Given the description of an element on the screen output the (x, y) to click on. 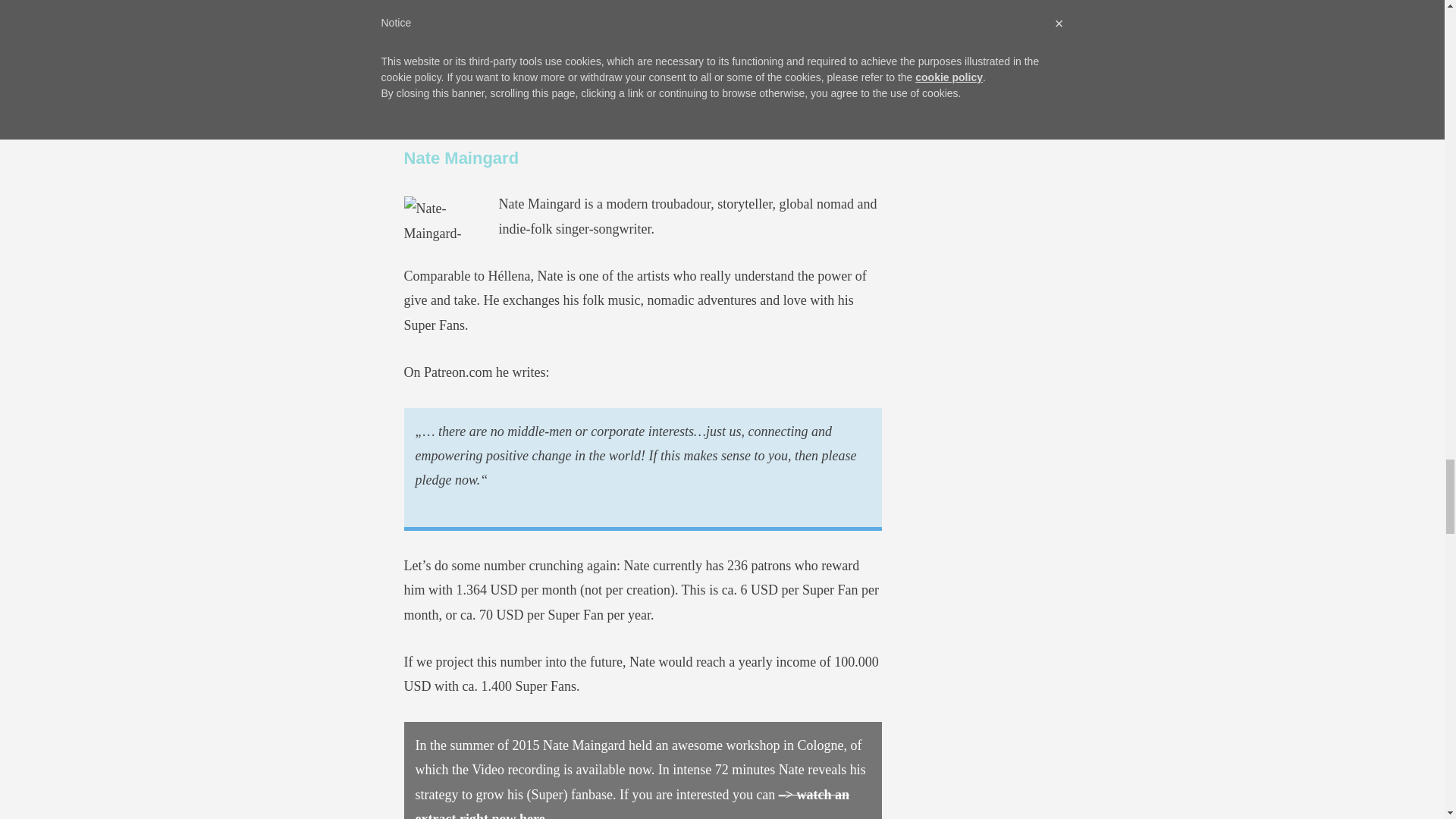
Nate Maingard (461, 157)
